Given the description of an element on the screen output the (x, y) to click on. 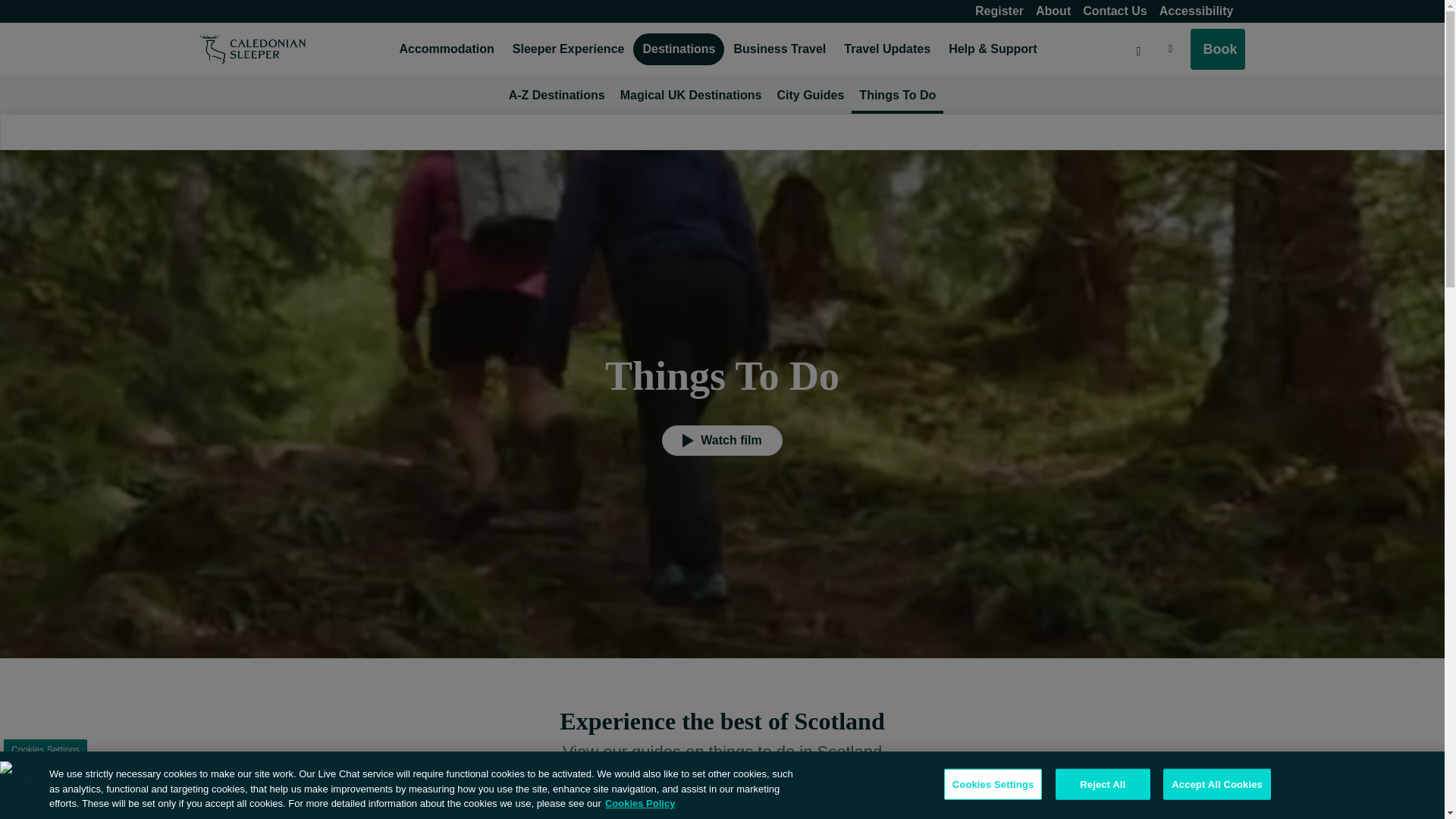
Accessibility (1196, 11)
Register (999, 11)
Sleeper Experience (568, 49)
Cookies Settings (45, 748)
About (1053, 11)
Company Logo (24, 785)
Contact Us (1115, 11)
Destinations (678, 49)
Accommodation (446, 49)
Business Travel (778, 49)
